Given the description of an element on the screen output the (x, y) to click on. 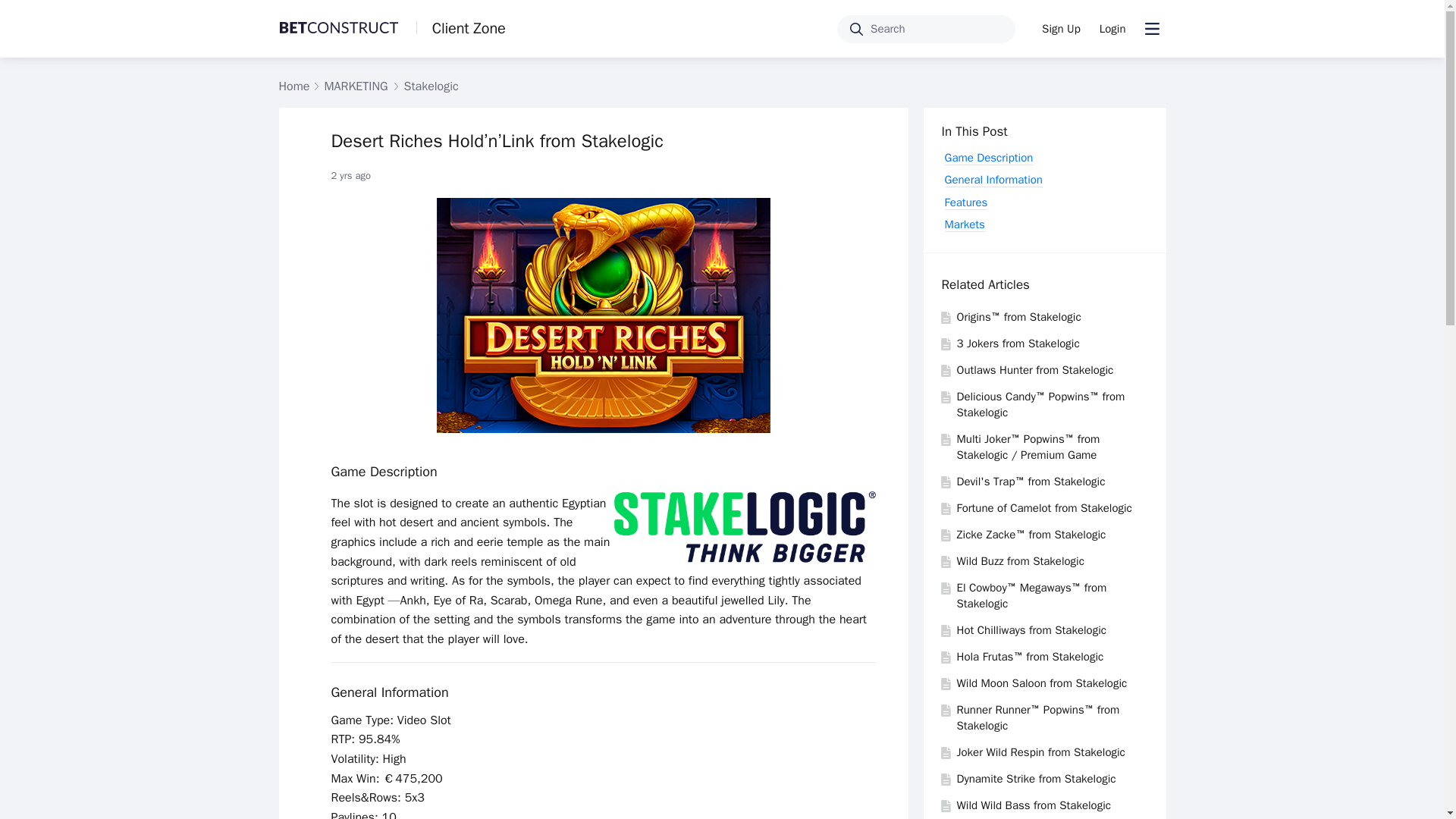
General Information (389, 692)
Game Description (383, 471)
Markets (964, 224)
Wild Buzz from Stakelogic (1020, 561)
3 Jokers from Stakelogic (1018, 343)
Outlaws Hunter from Stakelogic (1034, 369)
Hot Chilliways from Stakelogic (1031, 630)
Joker Wild Respin from Stakelogic (1040, 752)
Features (966, 202)
General Information (993, 179)
